Given the description of an element on the screen output the (x, y) to click on. 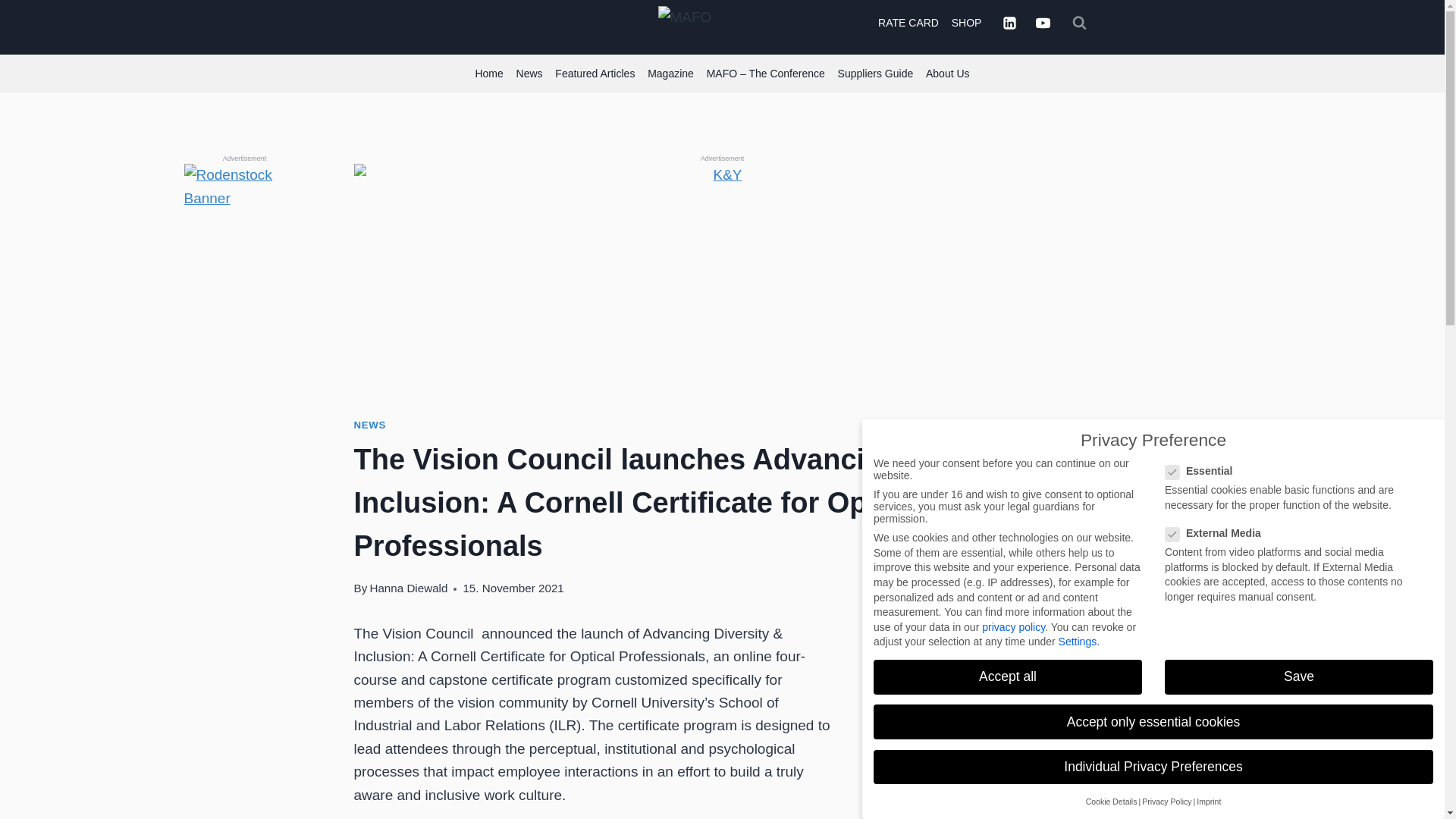
News (528, 73)
Home (488, 73)
Suppliers Guide (874, 73)
Magazine (671, 73)
About Us (947, 73)
SHOP (965, 21)
NEWS (369, 424)
Featured Articles (595, 73)
RATE CARD (908, 21)
Hanna Diewald (407, 587)
